Given the description of an element on the screen output the (x, y) to click on. 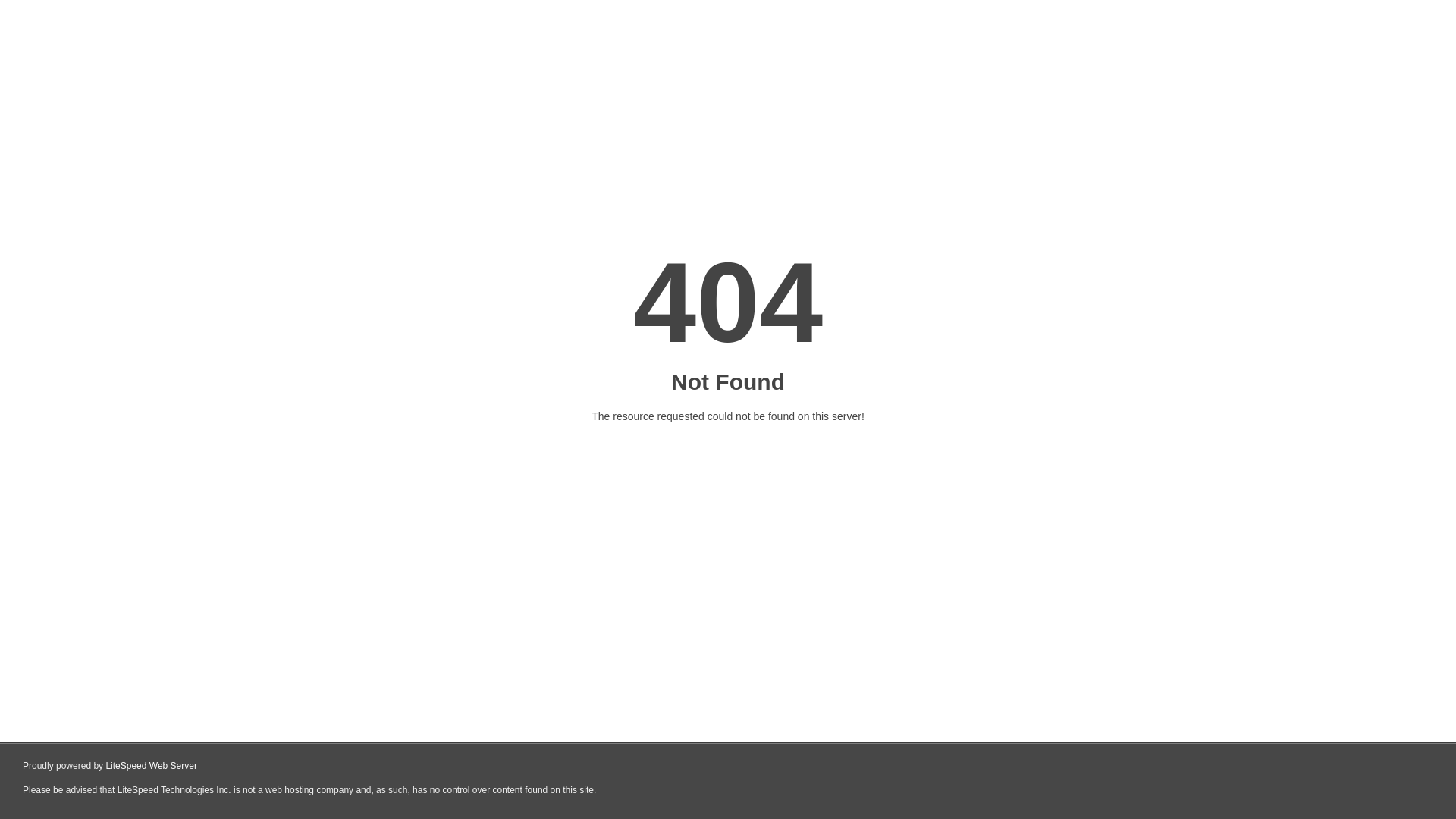
LiteSpeed Web Server Element type: text (151, 765)
